Given the description of an element on the screen output the (x, y) to click on. 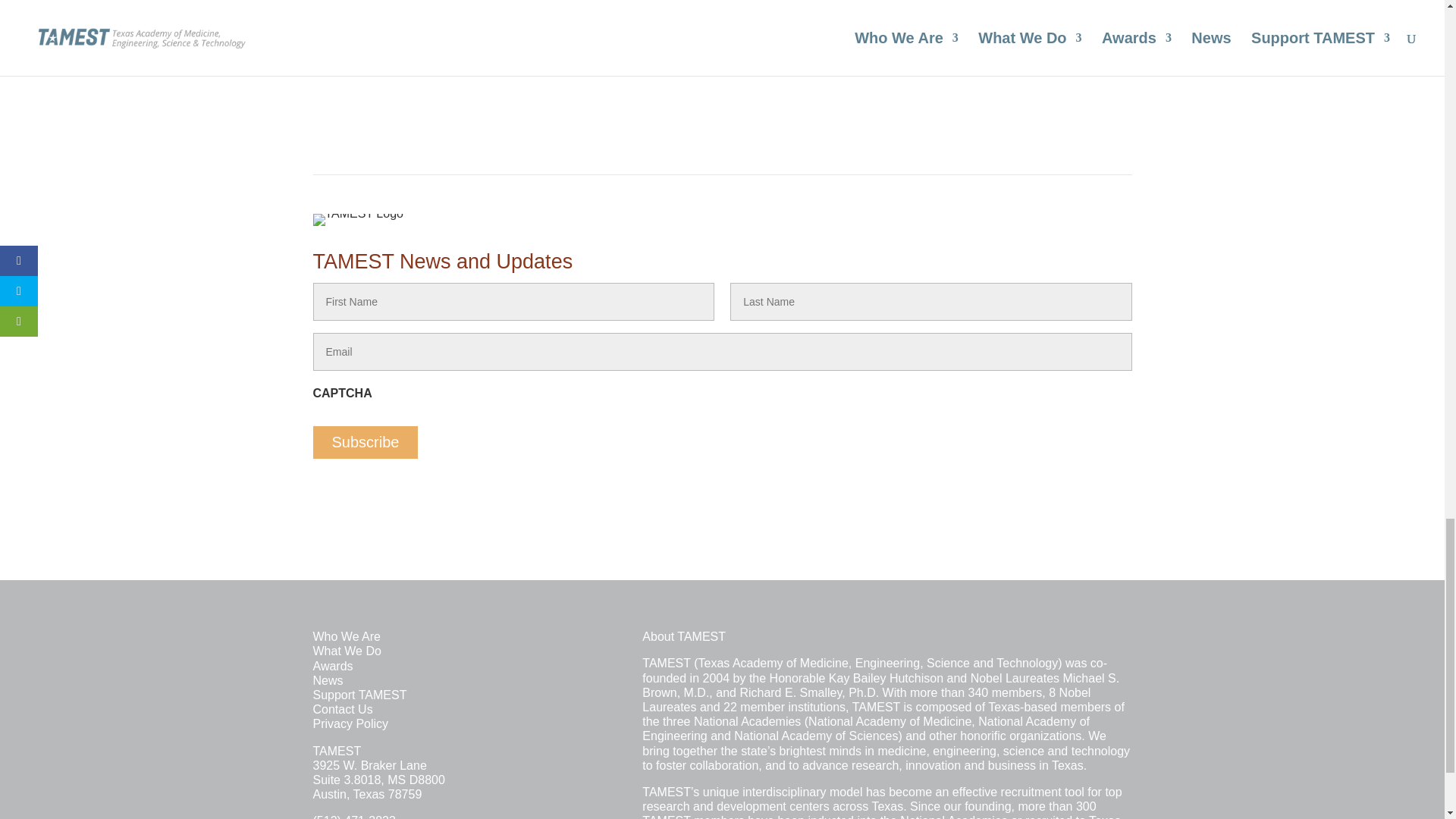
What We Do (346, 650)
Who We Are (346, 635)
Awards (332, 666)
TAMEST-Logo-1080x270 (358, 219)
News (327, 680)
Subscribe (365, 441)
Support TAMEST (359, 694)
Contact Us (342, 708)
Subscribe (365, 441)
